Given the description of an element on the screen output the (x, y) to click on. 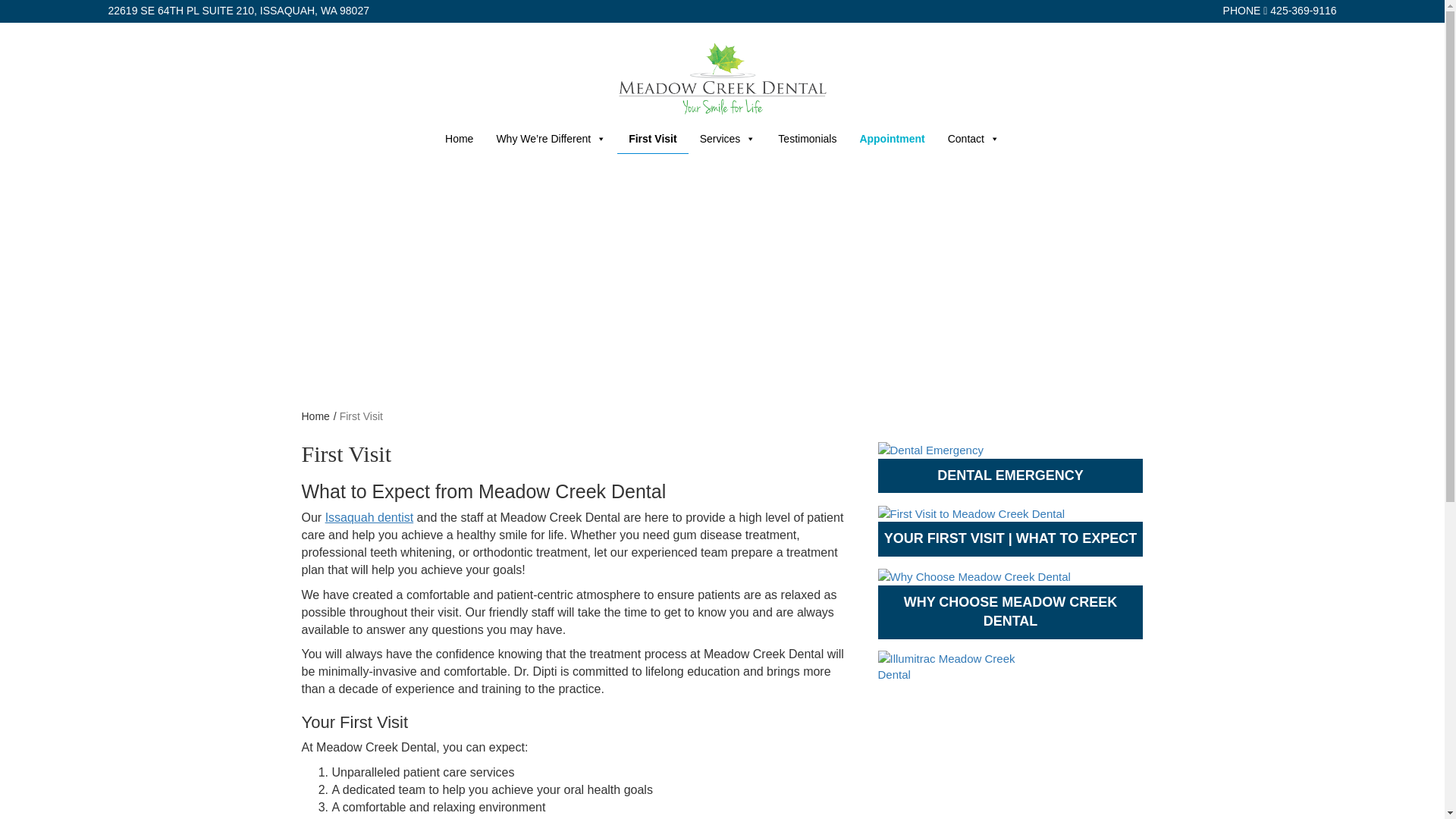
Testimonials (807, 138)
PHONE 425-369-9116 (1279, 10)
First Visit (652, 138)
Home (317, 416)
Home (458, 138)
Contact (973, 138)
DENTAL EMERGENCY (1009, 468)
WHY CHOOSE MEADOW CREEK DENTAL (1009, 604)
Appointment (891, 138)
Issaquah dentist (368, 517)
